Given the description of an element on the screen output the (x, y) to click on. 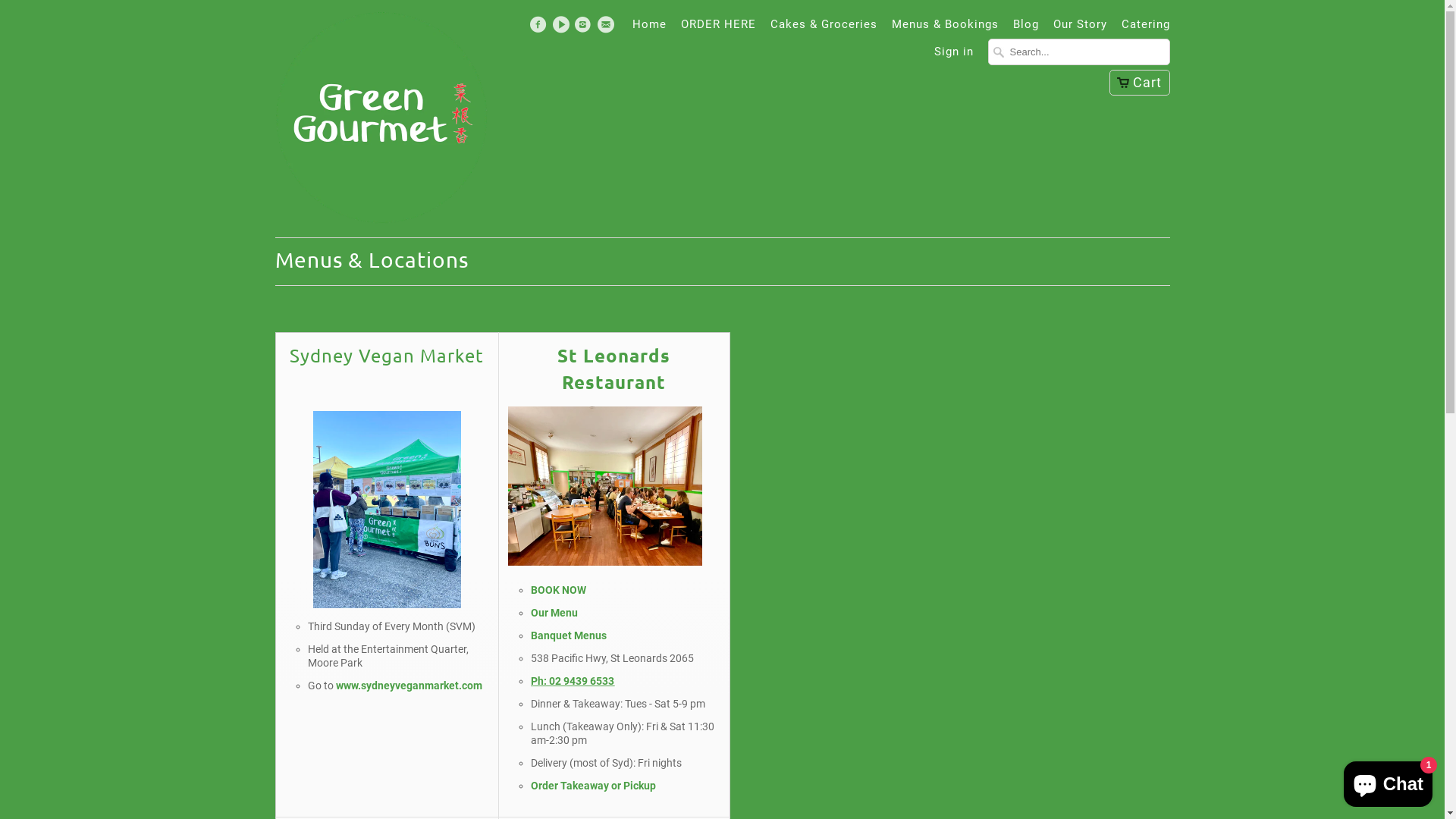
www.sydneyveganmarket.com Element type: text (408, 685)
BOOK NOW Element type: text (558, 589)
Cart Element type: text (1138, 82)
Blog Element type: text (1025, 27)
Banquet Menus Element type: text (568, 635)
Green Gourmet Element type: hover (380, 118)
Green Gourmet on Instagram Element type: hover (584, 27)
Green Gourmet on Facebook Element type: hover (540, 27)
ORDER HERE Element type: text (718, 27)
Sign in Element type: text (953, 54)
Green Gourmet on YouTube Element type: hover (562, 27)
Menus & Bookings Element type: text (944, 27)
Home Element type: text (649, 27)
Order Takeaway or Pickup Element type: text (592, 785)
Our Menu  Element type: text (555, 612)
St Leonards Restaurant Element type: text (613, 368)
Cakes & Groceries Element type: text (823, 27)
Our Story Element type: text (1079, 27)
Catering Element type: text (1144, 27)
Ph: 02 9439 6533 Element type: text (572, 680)
Shopify online store chat Element type: hover (1388, 780)
Email Green Gourmet Element type: hover (607, 27)
